Given the description of an element on the screen output the (x, y) to click on. 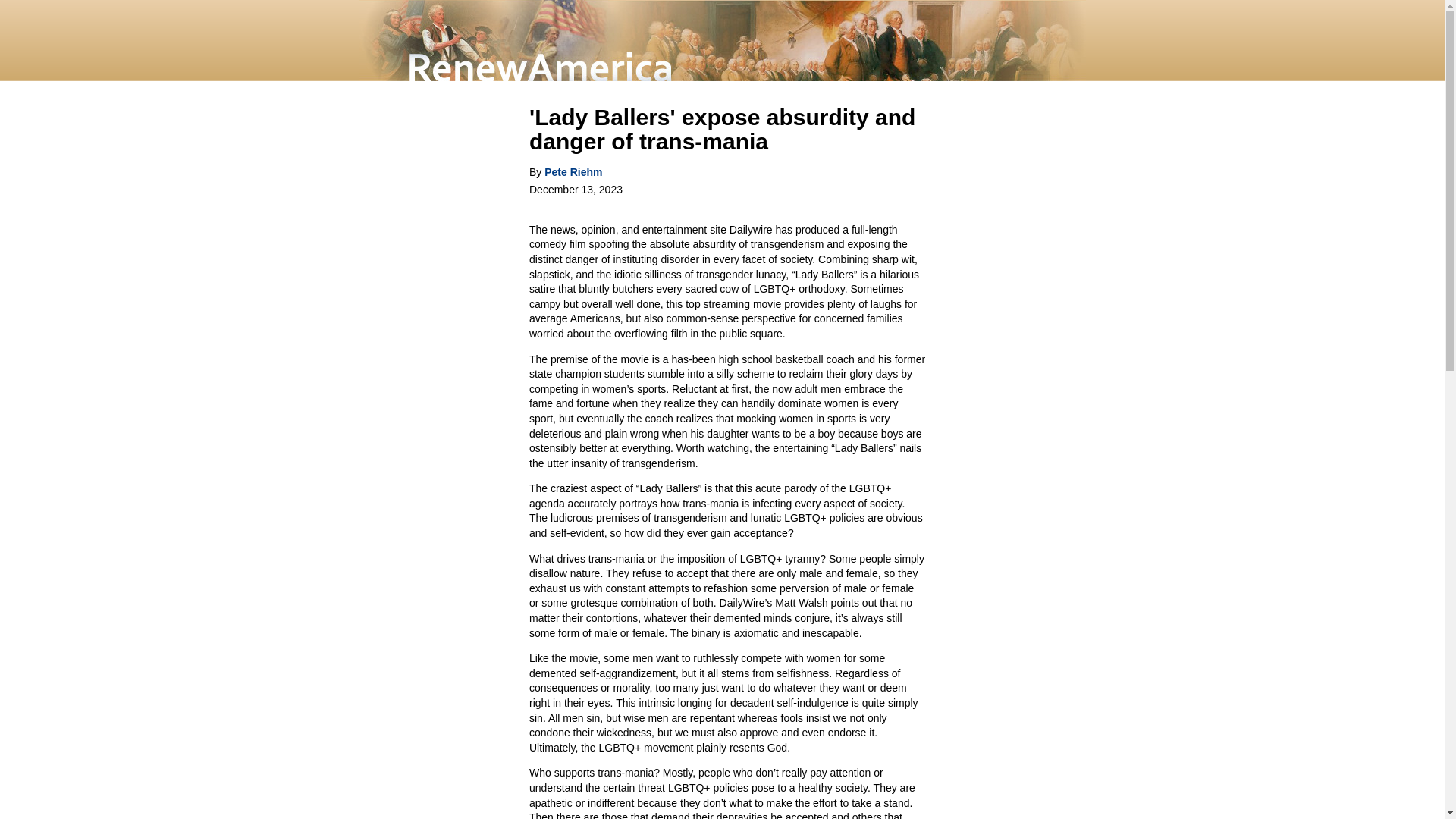
Pete Riehm (573, 172)
